Given the description of an element on the screen output the (x, y) to click on. 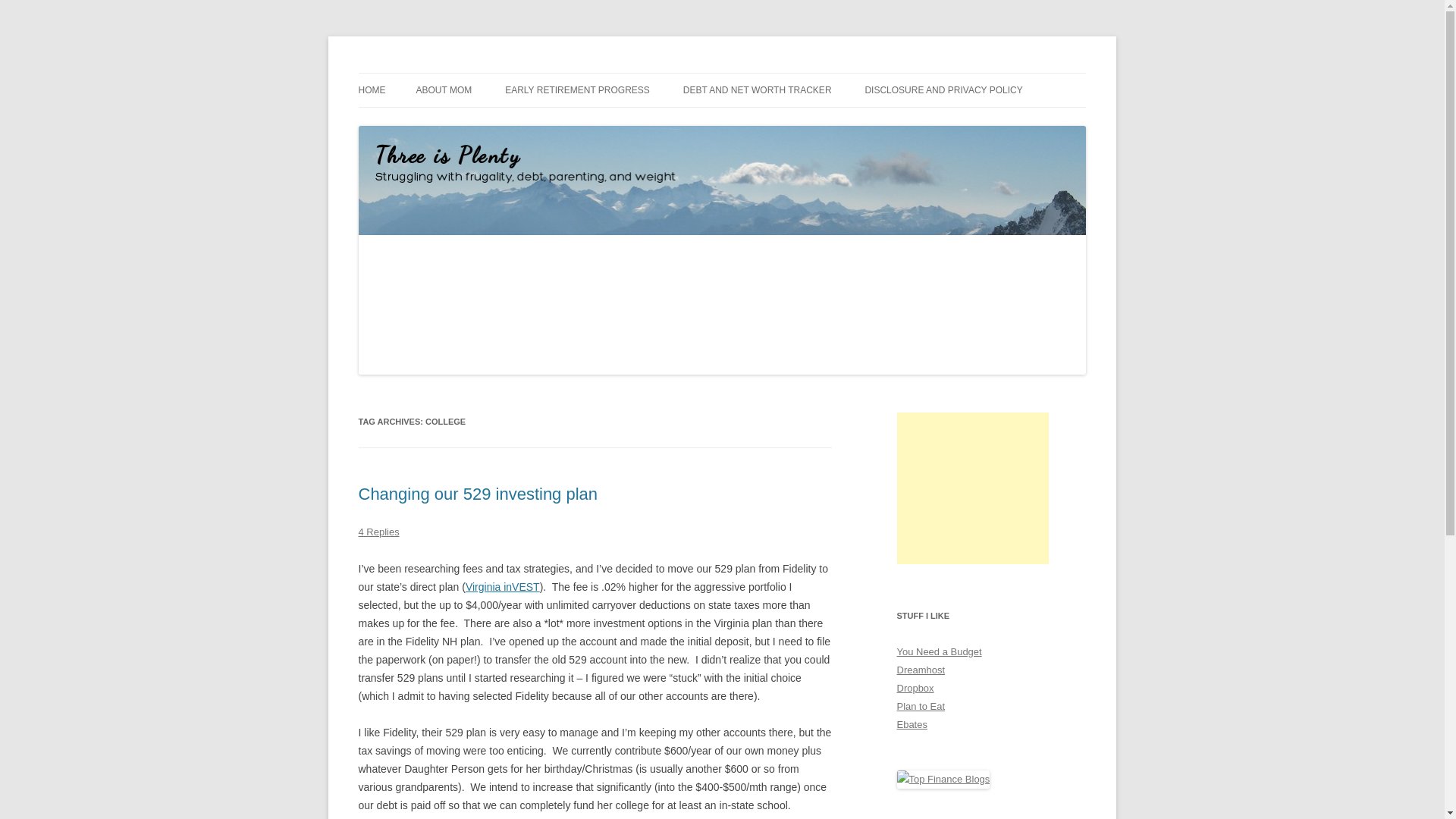
ABOUT MOM (442, 90)
Three is Plenty (427, 72)
DEBT AND NET WORTH TRACKER (756, 90)
Virginia inVEST (502, 586)
EARLY RETIREMENT PROGRESS (577, 90)
Dreamhost (920, 669)
Advertisement (972, 488)
Ebates (911, 724)
4 Replies (378, 531)
